Given the description of an element on the screen output the (x, y) to click on. 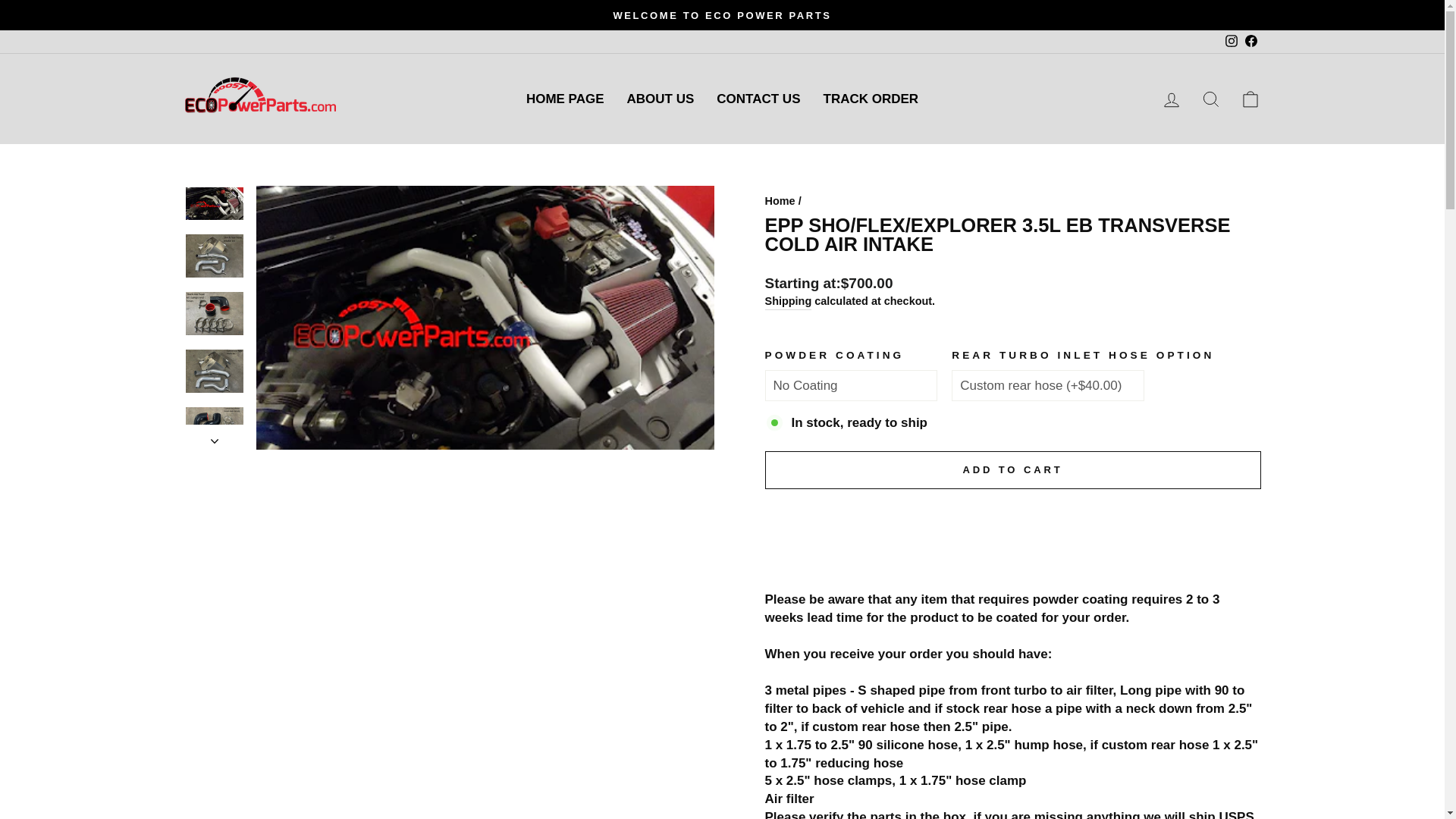
Facebook (1250, 41)
ICON-BAG-MINIMAL (1249, 98)
Eco Power Parts on Instagram (1249, 98)
icon-chevron (1230, 41)
HOME PAGE (214, 440)
instagram (565, 98)
Eco Power Parts on Facebook (1231, 40)
TRACK ORDER (1250, 41)
Shipping (870, 98)
Home (1171, 98)
Back to the frontpage (1210, 98)
